Given the description of an element on the screen output the (x, y) to click on. 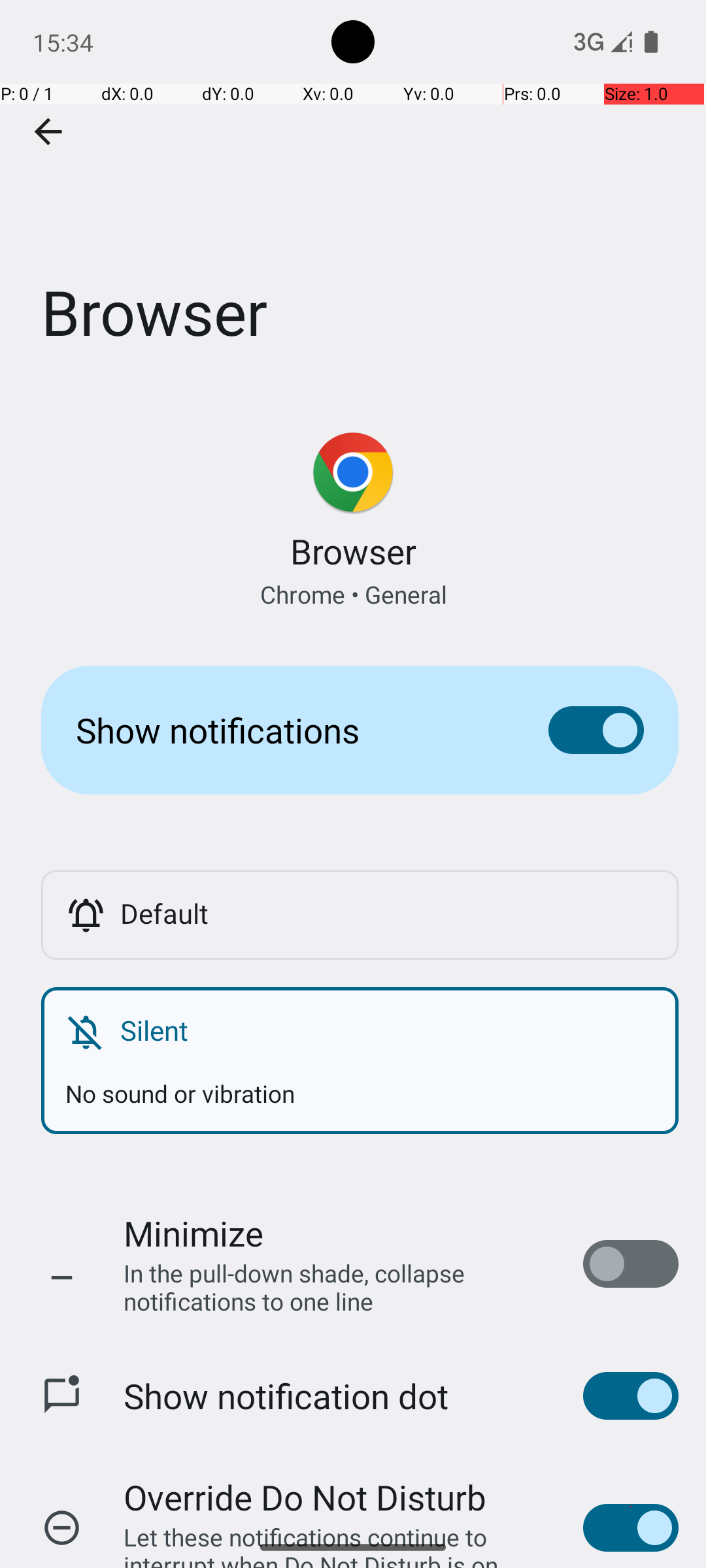
Browser Element type: android.widget.FrameLayout (353, 195)
Chrome • General Element type: android.widget.TextView (352, 593)
Show notifications Element type: android.widget.TextView (291, 729)
Minimize Element type: android.widget.TextView (193, 1232)
In the pull-down shade, collapse notifications to one line Element type: android.widget.TextView (339, 1286)
Show notification dot Element type: android.widget.TextView (285, 1395)
Override Do Not Disturb Element type: android.widget.TextView (304, 1496)
Let these notifications continue to interrupt when Do Not Disturb is on Element type: android.widget.TextView (339, 1523)
Default Element type: android.widget.TextView (387, 912)
Silent Element type: android.widget.TextView (387, 1029)
No sound or vibration Element type: android.widget.TextView (359, 1081)
